Given the description of an element on the screen output the (x, y) to click on. 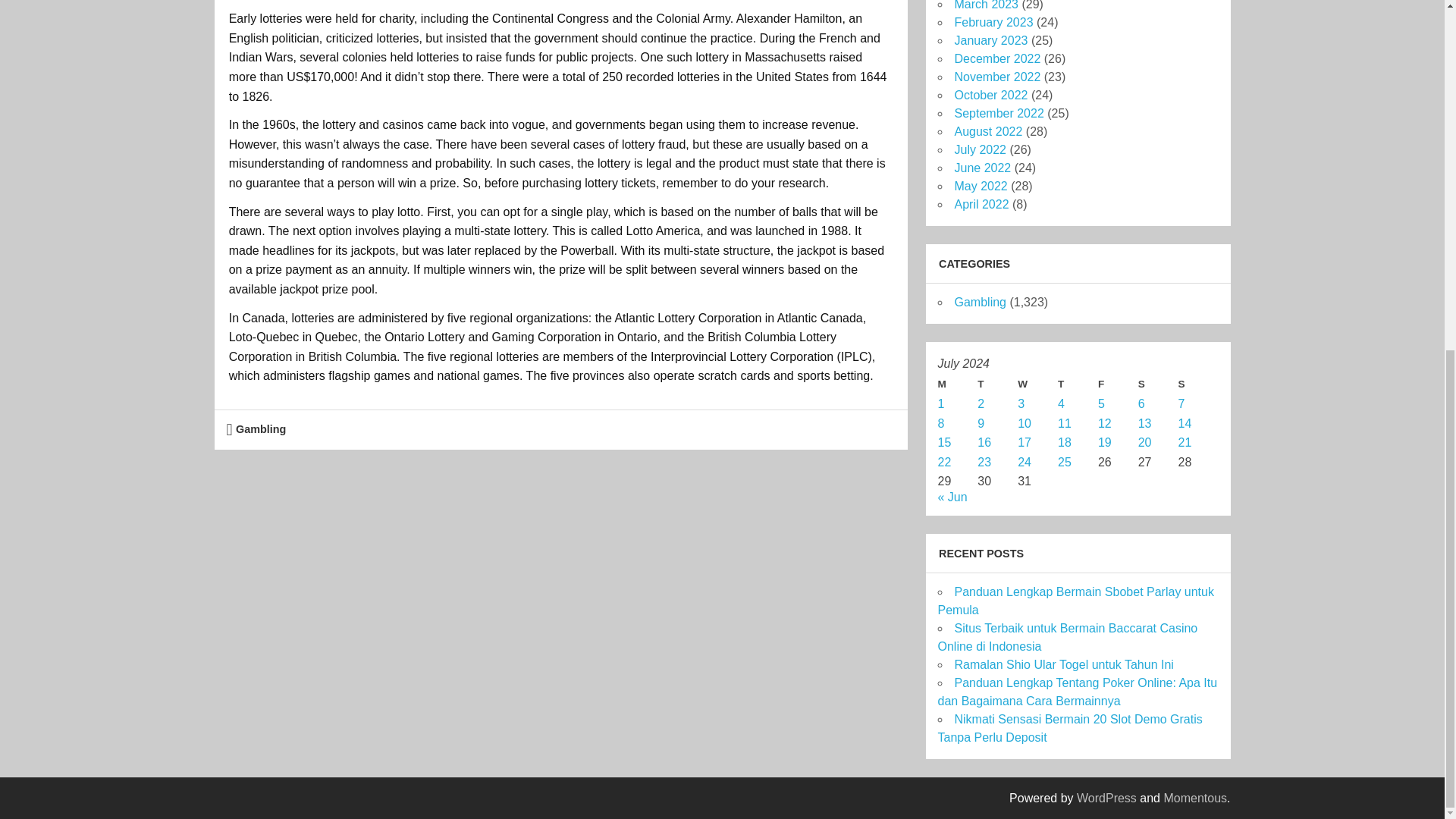
2 (980, 403)
May 2022 (980, 185)
Sunday (1197, 383)
November 2022 (997, 76)
October 2022 (990, 94)
August 2022 (987, 131)
Momentous WordPress Theme (1195, 797)
April 2022 (981, 204)
1 (940, 403)
July 2022 (979, 149)
January 2023 (990, 40)
WordPress (1107, 797)
Gambling (979, 301)
September 2022 (998, 113)
March 2023 (985, 5)
